Given the description of an element on the screen output the (x, y) to click on. 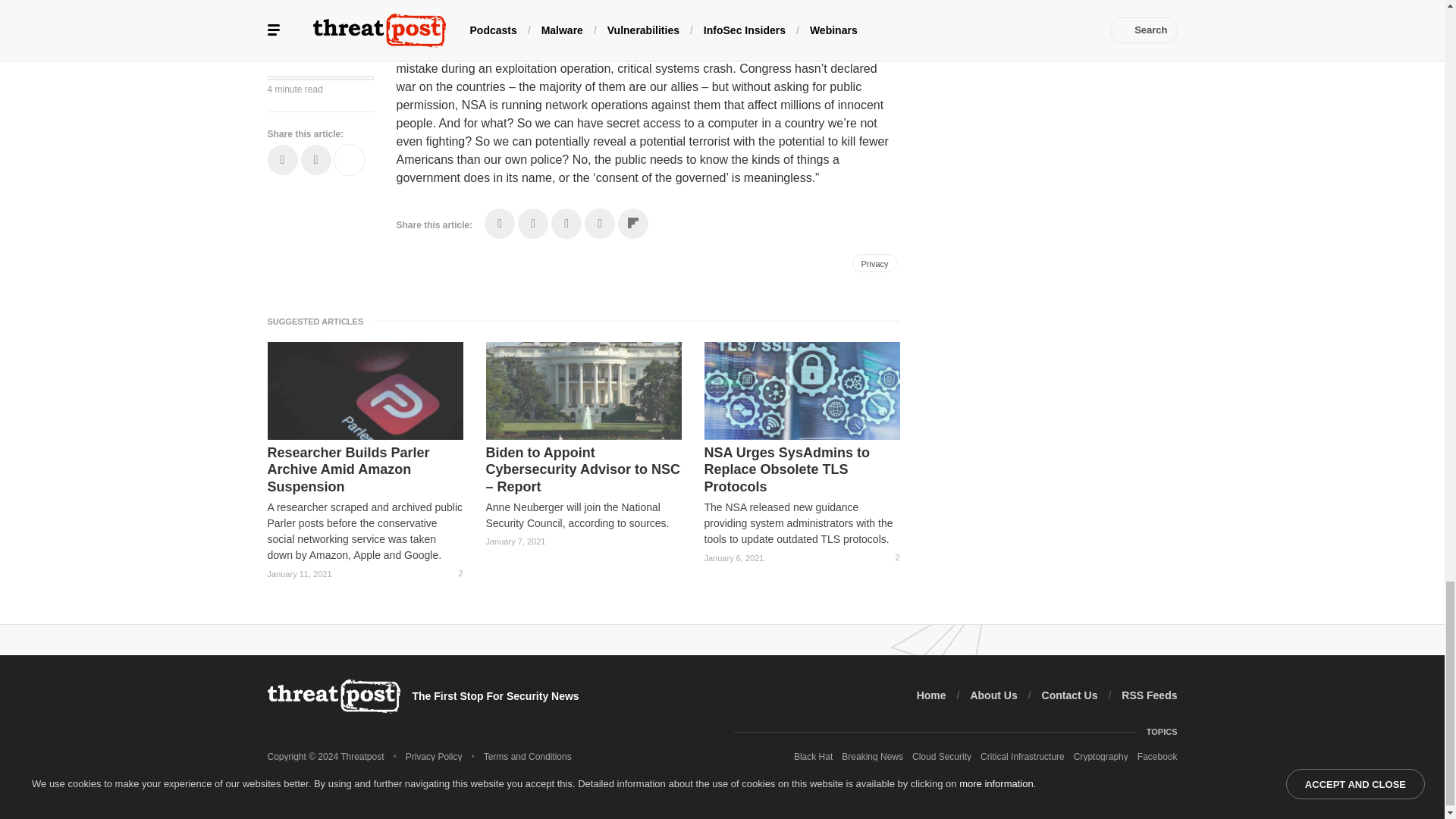
NSA Urges SysAdmins to Replace Obsolete TLS Protocols (801, 470)
Privacy (873, 262)
Researcher Builds Parler Archive Amid Amazon Suspension (364, 470)
SUGGESTED ARTICLES (319, 320)
Share via Facebook (499, 223)
2 (889, 557)
Share via LinkedIn (565, 223)
2 (453, 573)
Share via Reddit (599, 223)
Share via Twitter (533, 223)
